Given the description of an element on the screen output the (x, y) to click on. 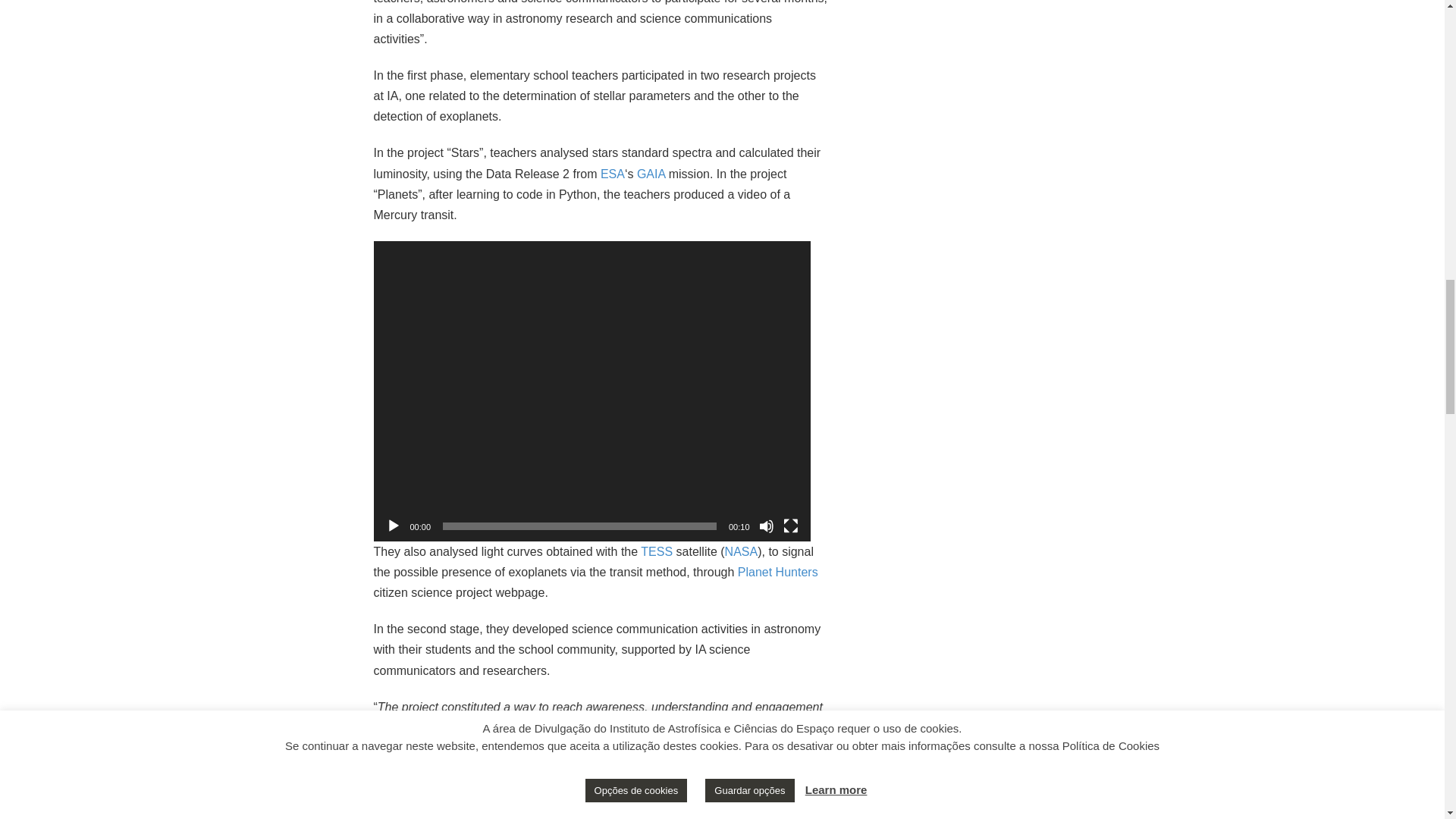
Play (392, 525)
Mute (765, 525)
Fullscreen (790, 525)
